Given the description of an element on the screen output the (x, y) to click on. 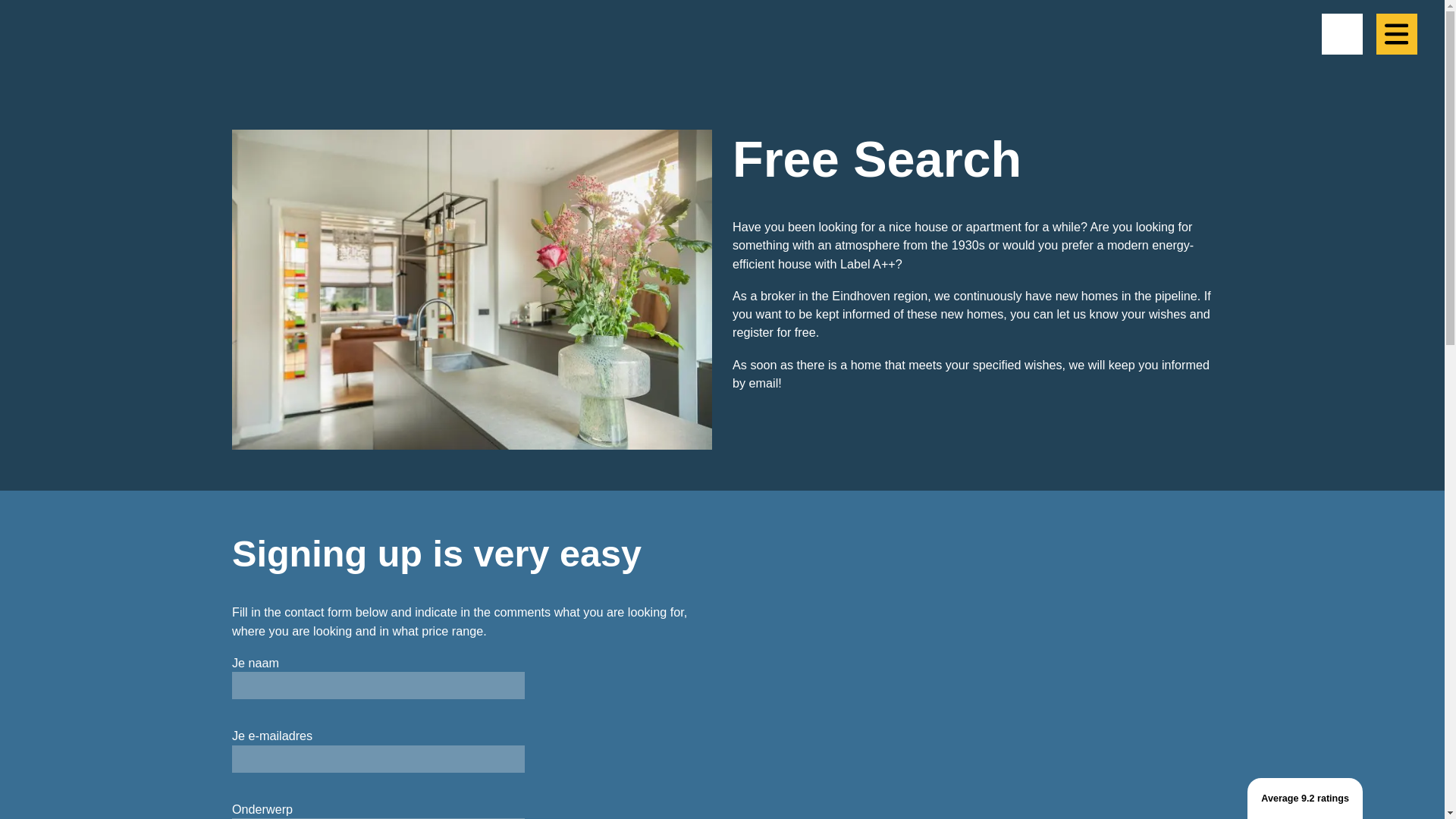
Maas Makelaars homepage (299, 50)
Average 9.2 ratings (1304, 798)
Maas Makelaars beoordelingen (1304, 798)
